Given the description of an element on the screen output the (x, y) to click on. 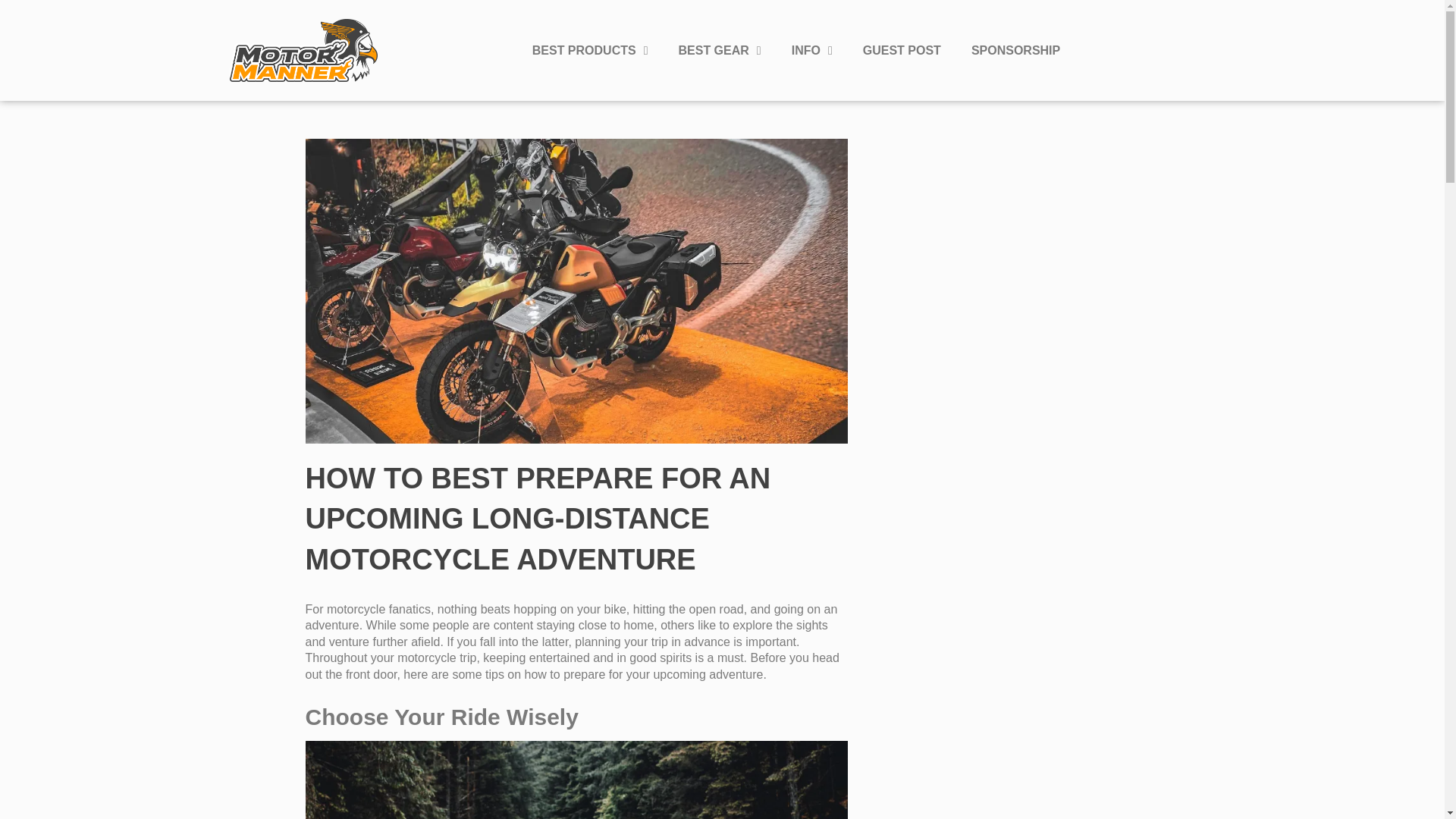
INFO (811, 50)
BEST PRODUCTS (589, 50)
GUEST POST (901, 50)
BEST GEAR (719, 50)
SPONSORSHIP (1015, 50)
